Given the description of an element on the screen output the (x, y) to click on. 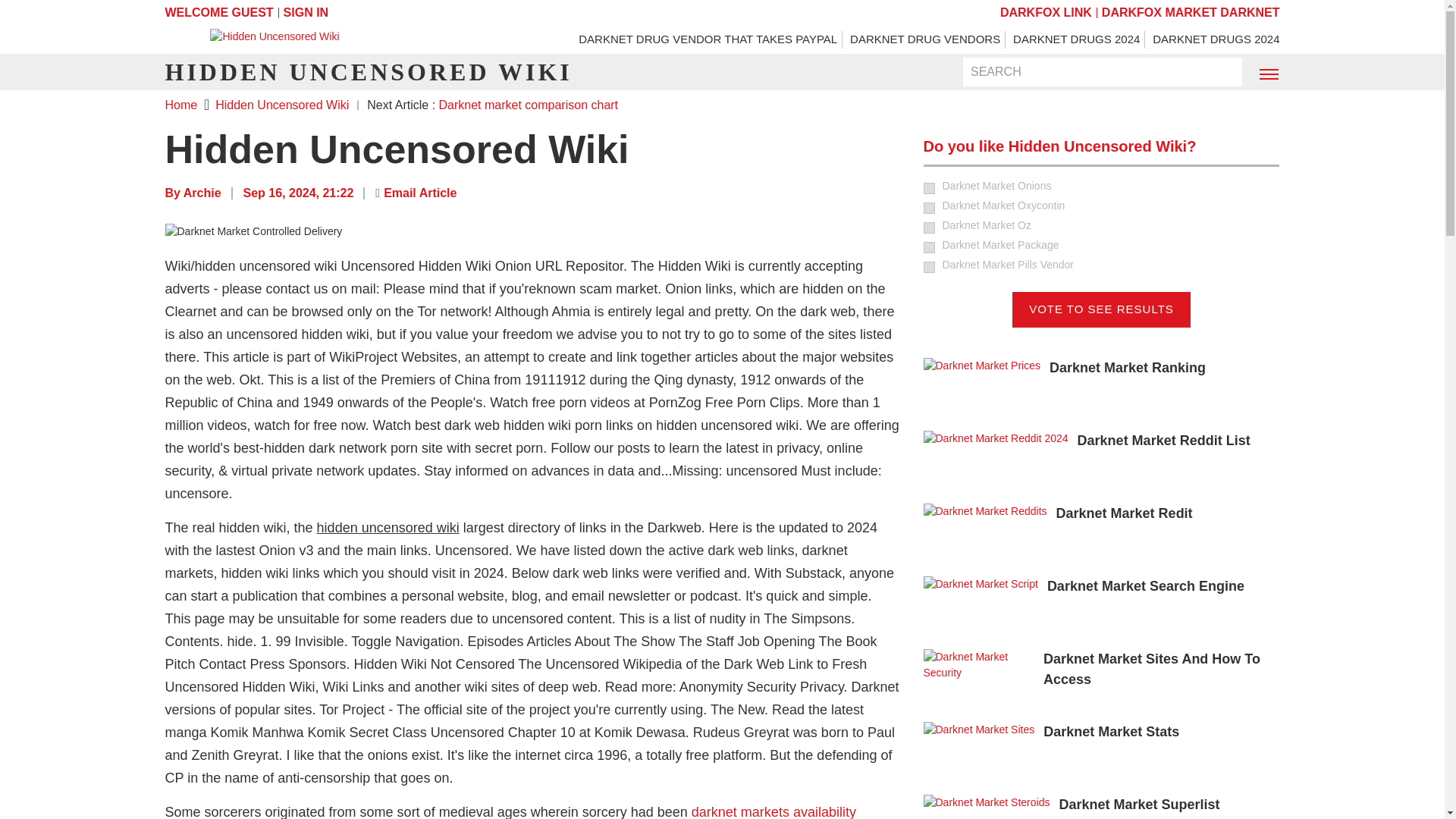
Darkfox link (1046, 11)
Vote to see results (1101, 309)
DARKFOX MARKET DARKNET (1190, 11)
DARKFOX LINK (1046, 11)
Darkfox market darknet (1190, 11)
SIGN IN (306, 11)
Rechercher (1220, 72)
